Given the description of an element on the screen output the (x, y) to click on. 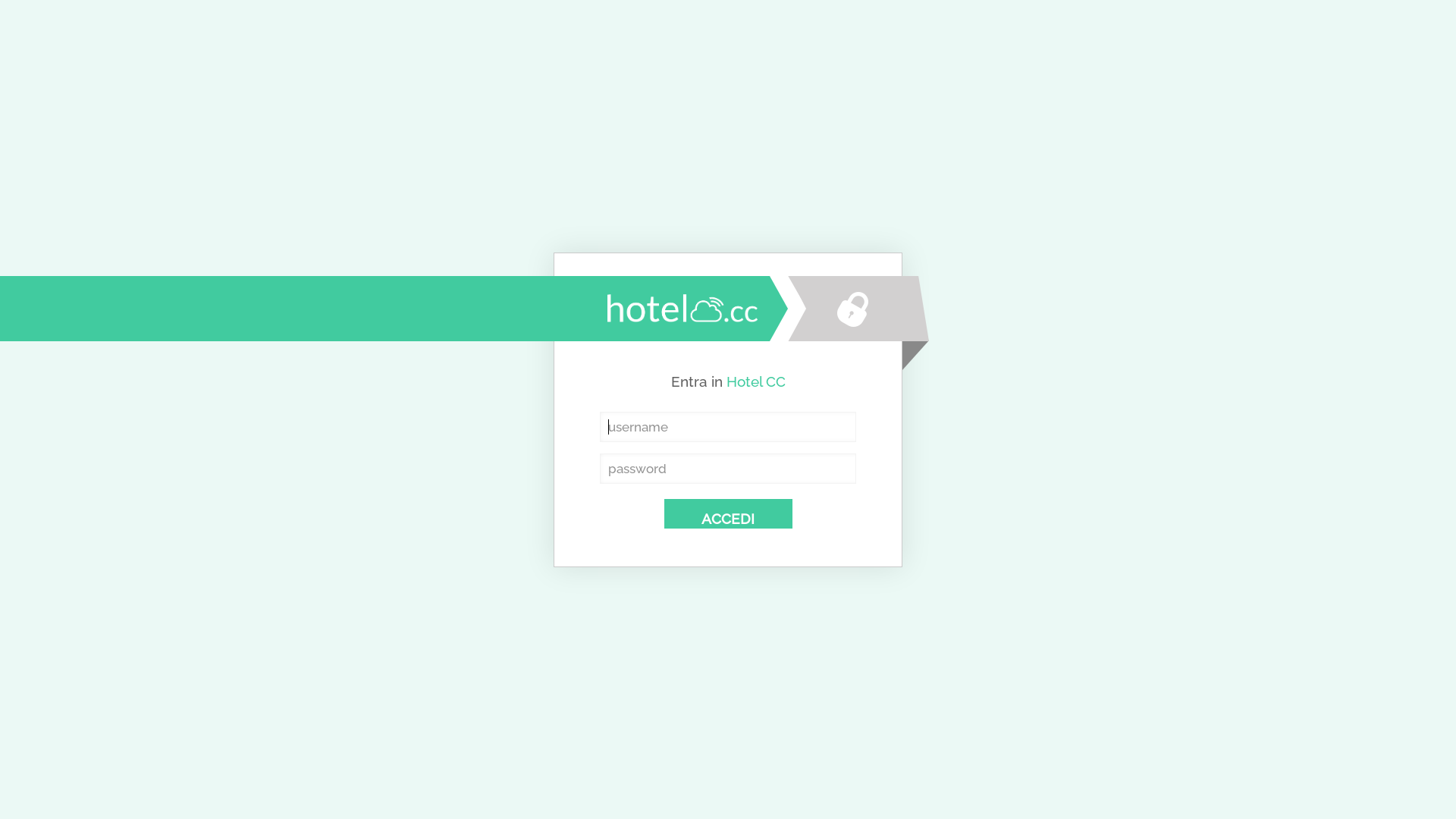
ACCEDI Element type: text (728, 513)
